Given the description of an element on the screen output the (x, y) to click on. 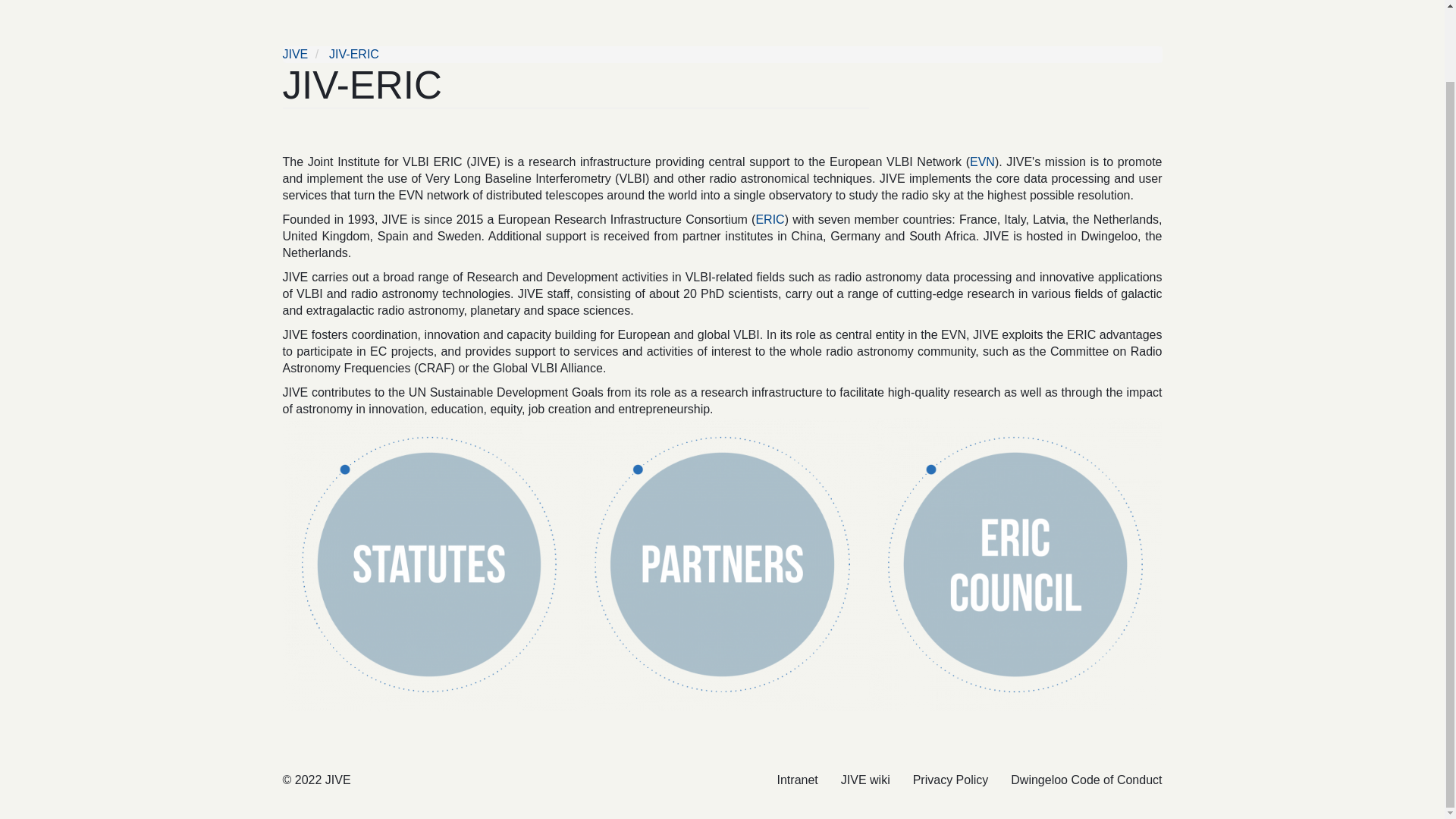
ERIC (769, 219)
Intranet (797, 780)
JIVE (294, 53)
EVN (981, 161)
JIV-ERIC (353, 53)
